Given the description of an element on the screen output the (x, y) to click on. 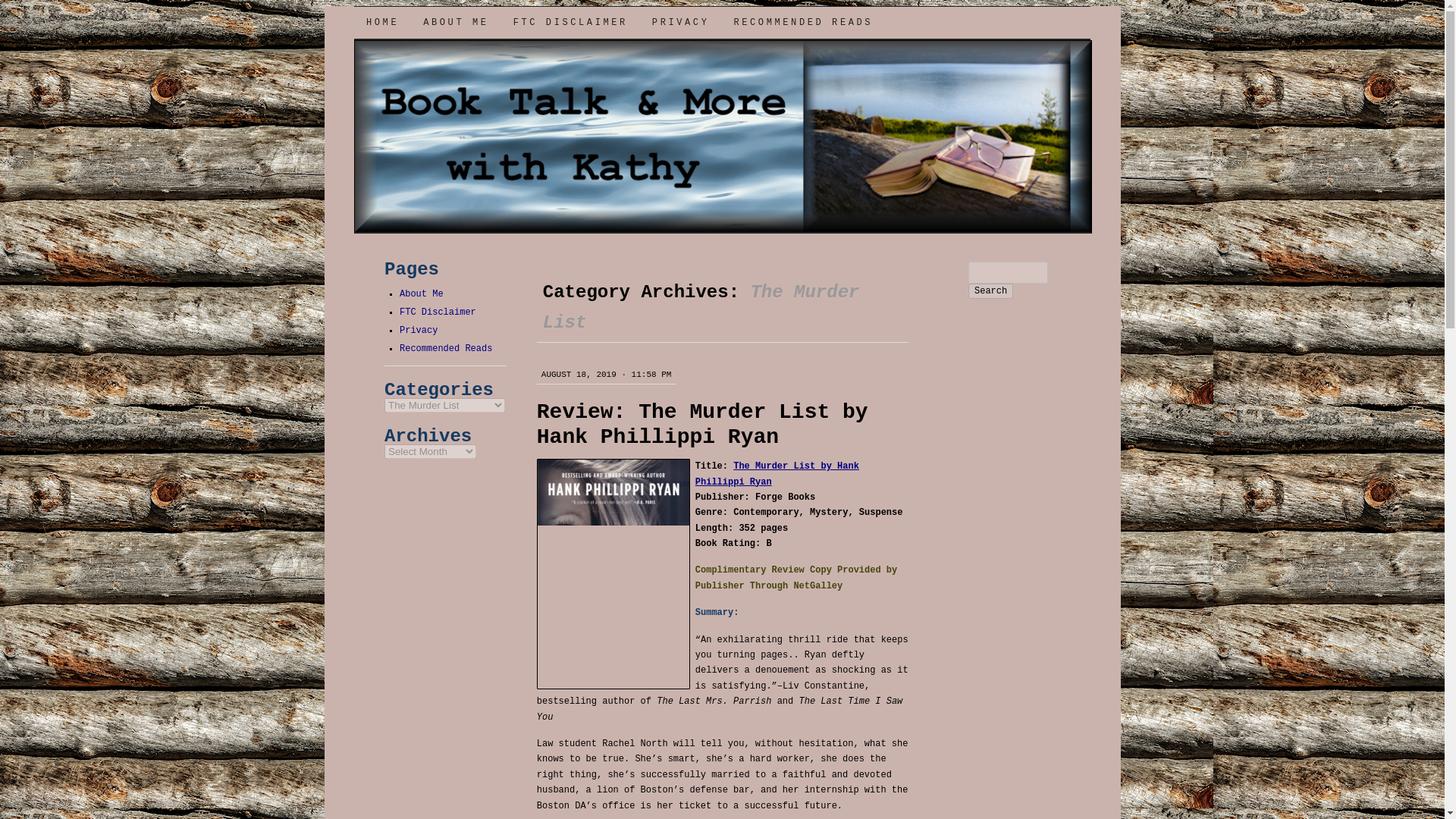
RECOMMENDED READS (802, 22)
FTC Disclaimer (437, 312)
ABOUT ME (455, 22)
FTC DISCLAIMER (570, 22)
HOME (381, 22)
About Me (421, 294)
Privacy (418, 330)
Search (990, 290)
Recommended Reads (445, 348)
Search (990, 290)
